Given the description of an element on the screen output the (x, y) to click on. 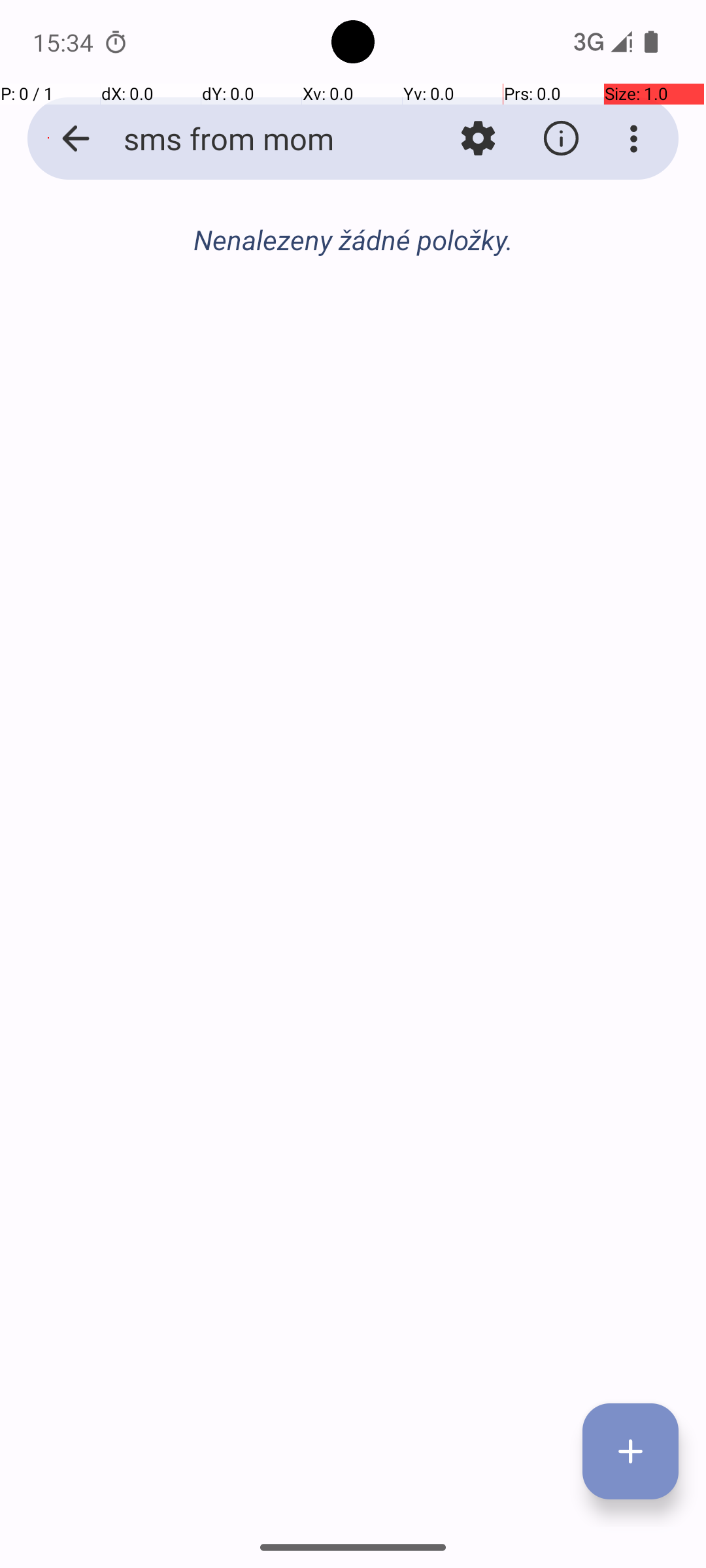
Nenalezeny žádné položky. Element type: android.widget.TextView (353, 239)
sms from mom Element type: android.widget.EditText (252, 138)
Nebyly nalezeny žádné uložené konverzace Element type: android.widget.TextView (353, 246)
Zahajte konverzaci Element type: android.widget.TextView (352, 311)
